Given the description of an element on the screen output the (x, y) to click on. 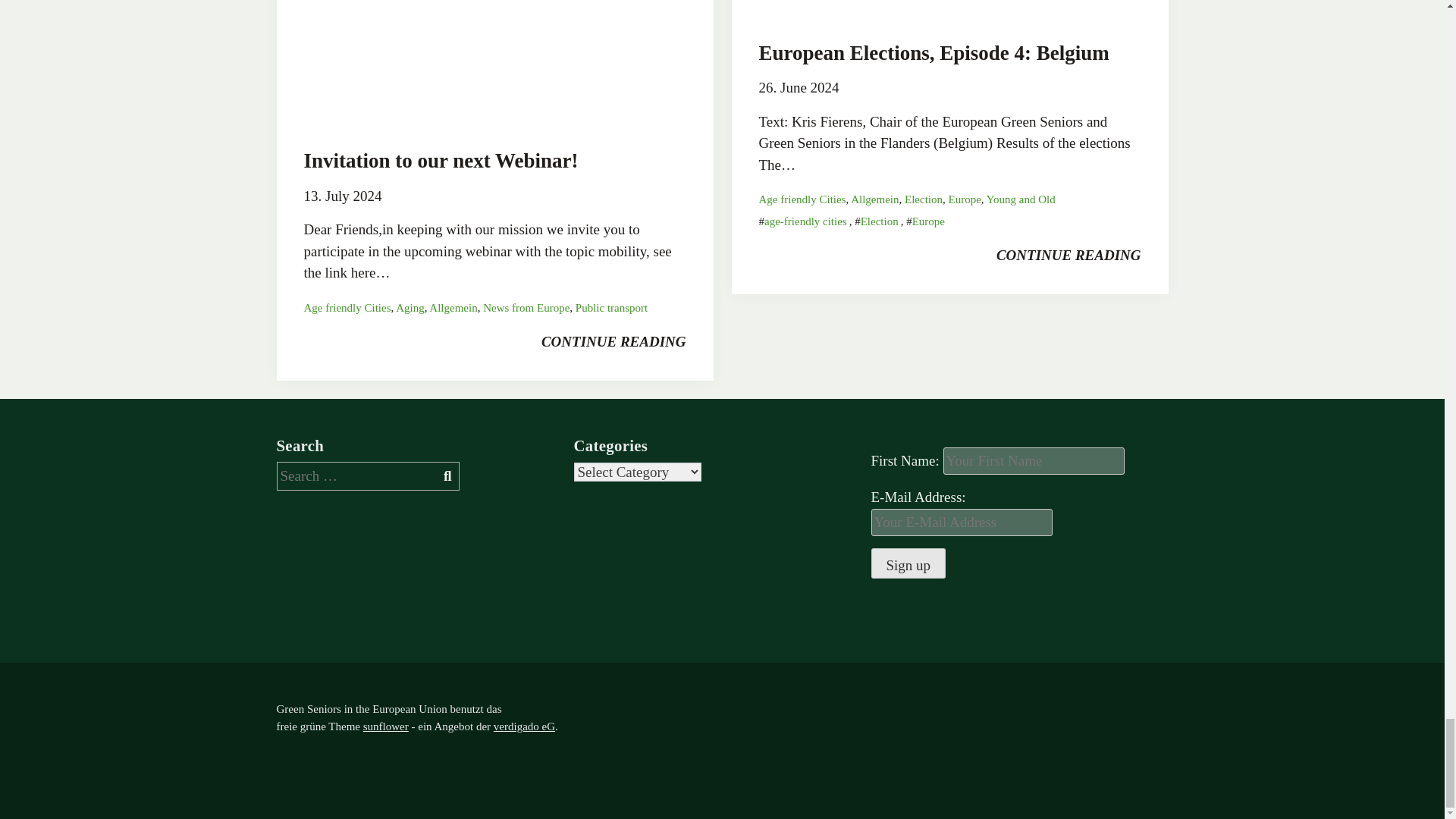
Sign up (907, 562)
